Given the description of an element on the screen output the (x, y) to click on. 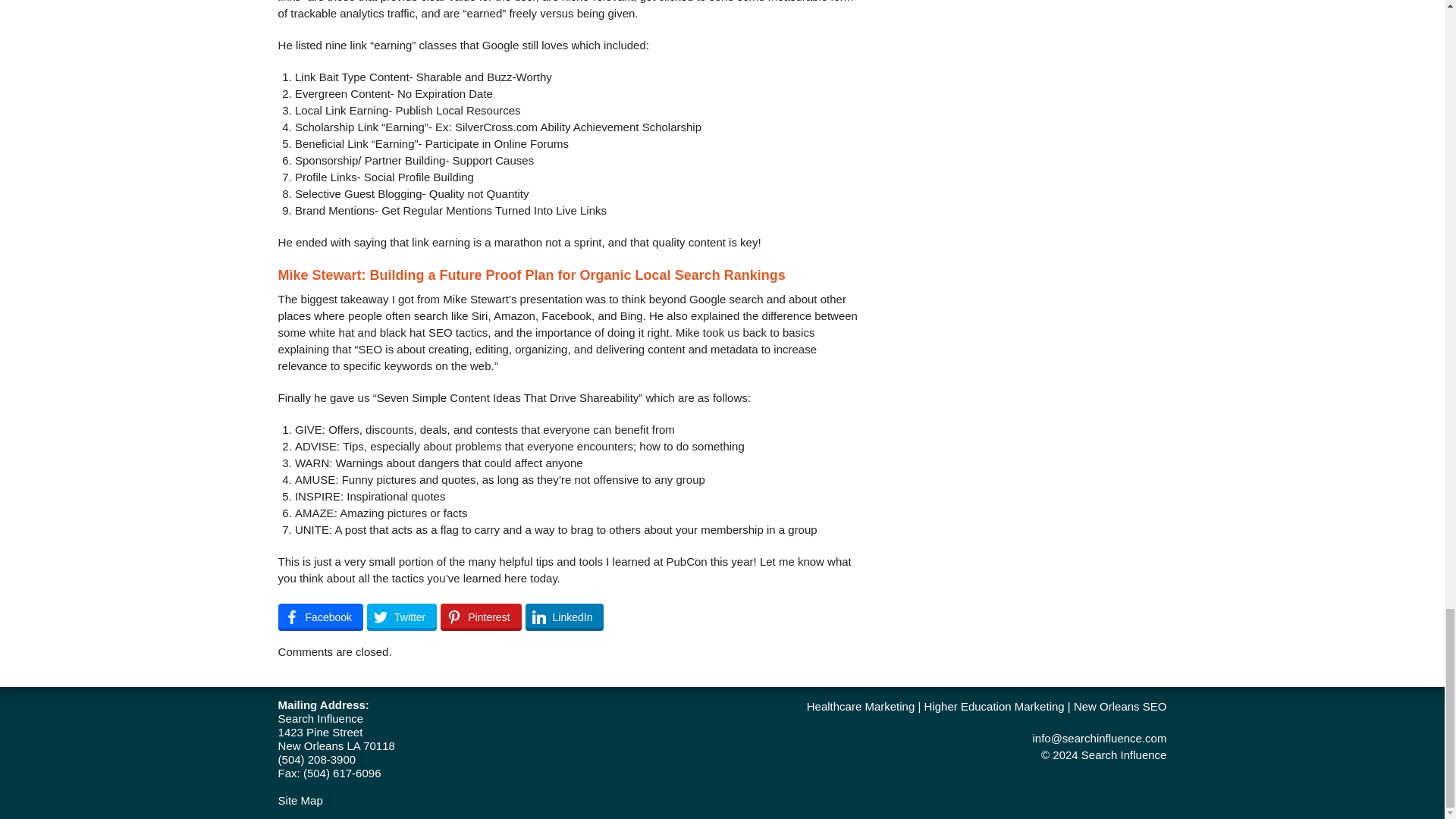
Share on Pinterest (481, 616)
Site Map (300, 799)
Share on Twitter (401, 616)
Share on LinkedIn (564, 616)
Share on Facebook (320, 616)
